Given the description of an element on the screen output the (x, y) to click on. 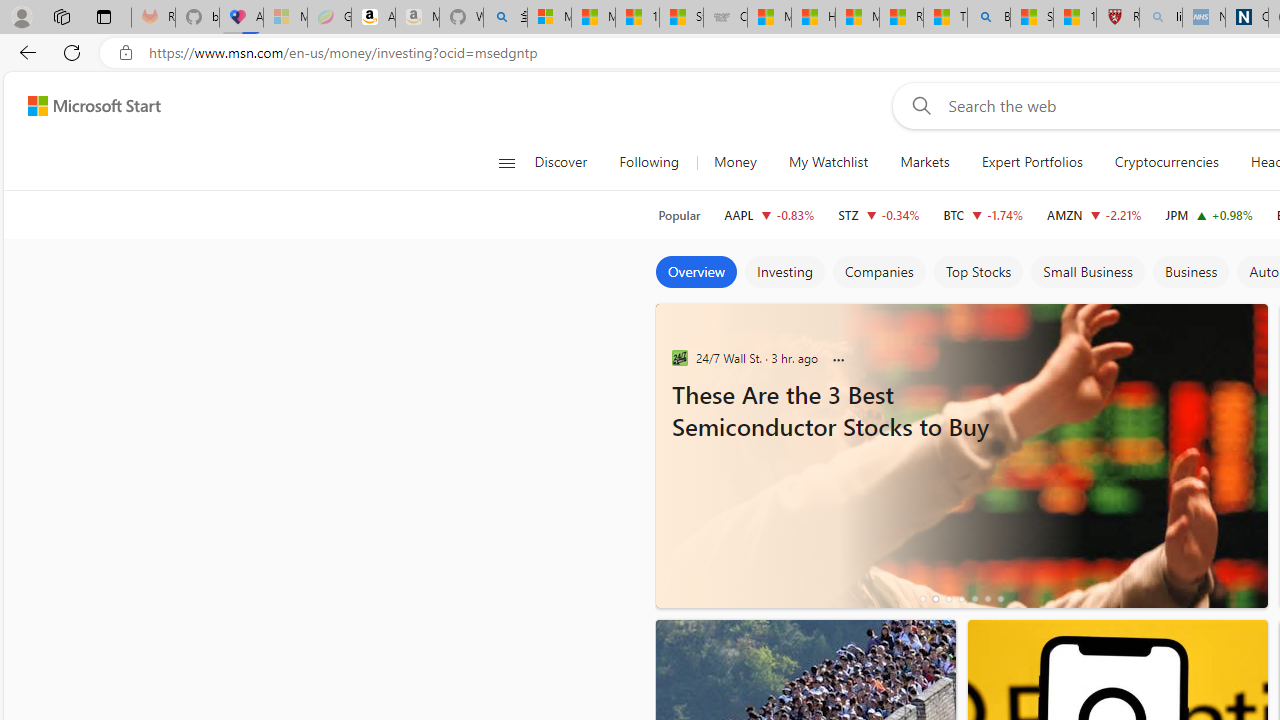
24/7 Wall St. (679, 357)
Markets (925, 162)
Business (1190, 272)
AAPL APPLE INC. decrease 224.53 -1.87 -0.83% (768, 214)
Companies (878, 272)
Cryptocurrencies (1166, 162)
